Given the description of an element on the screen output the (x, y) to click on. 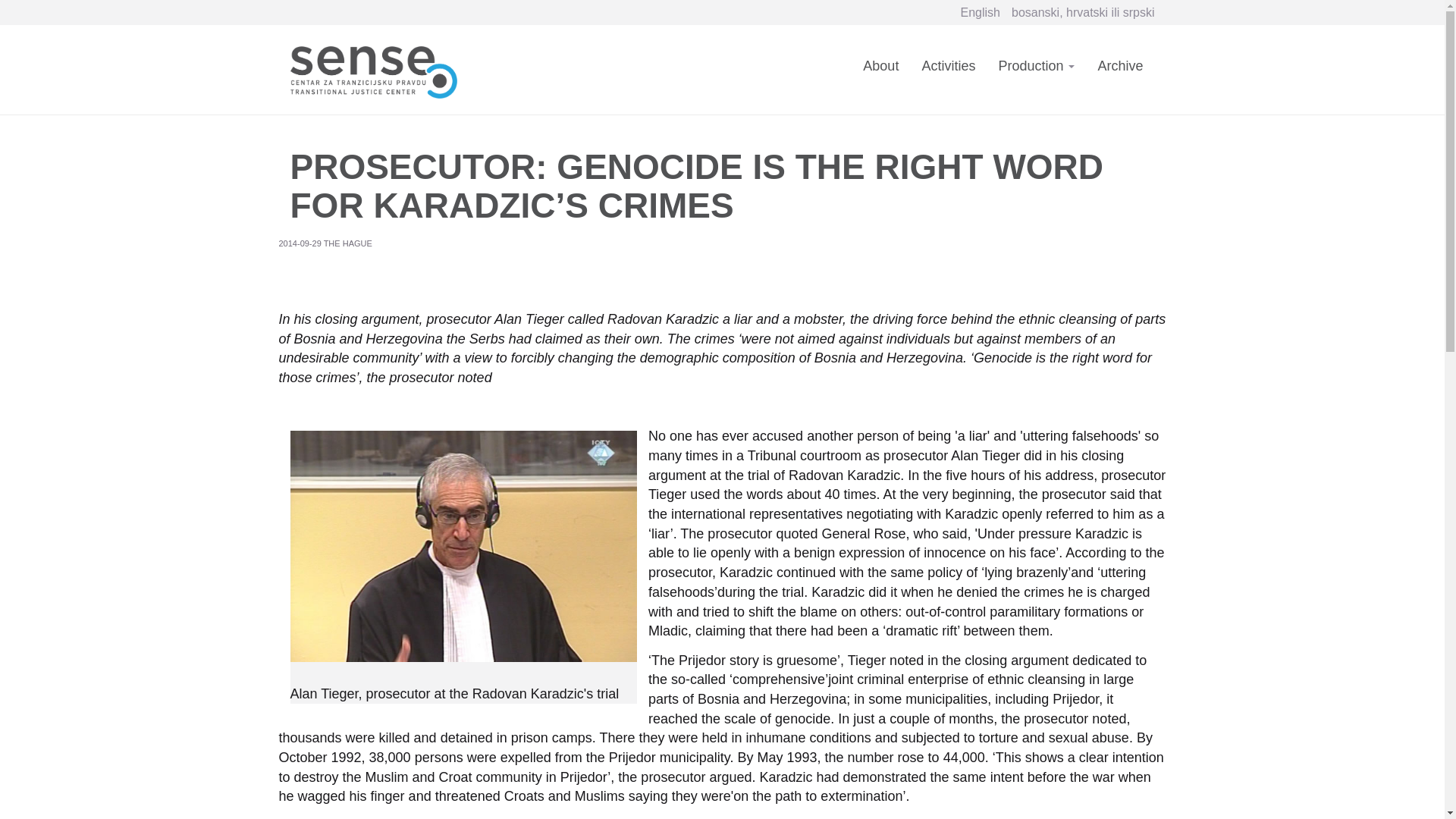
Alan Tieger, prosecutor at the Radovan Karadzic's trial (463, 545)
English (980, 11)
Production (1036, 75)
bosanski, hrvatski ili srpski (1082, 11)
Activities (948, 75)
Home (378, 69)
